Given the description of an element on the screen output the (x, y) to click on. 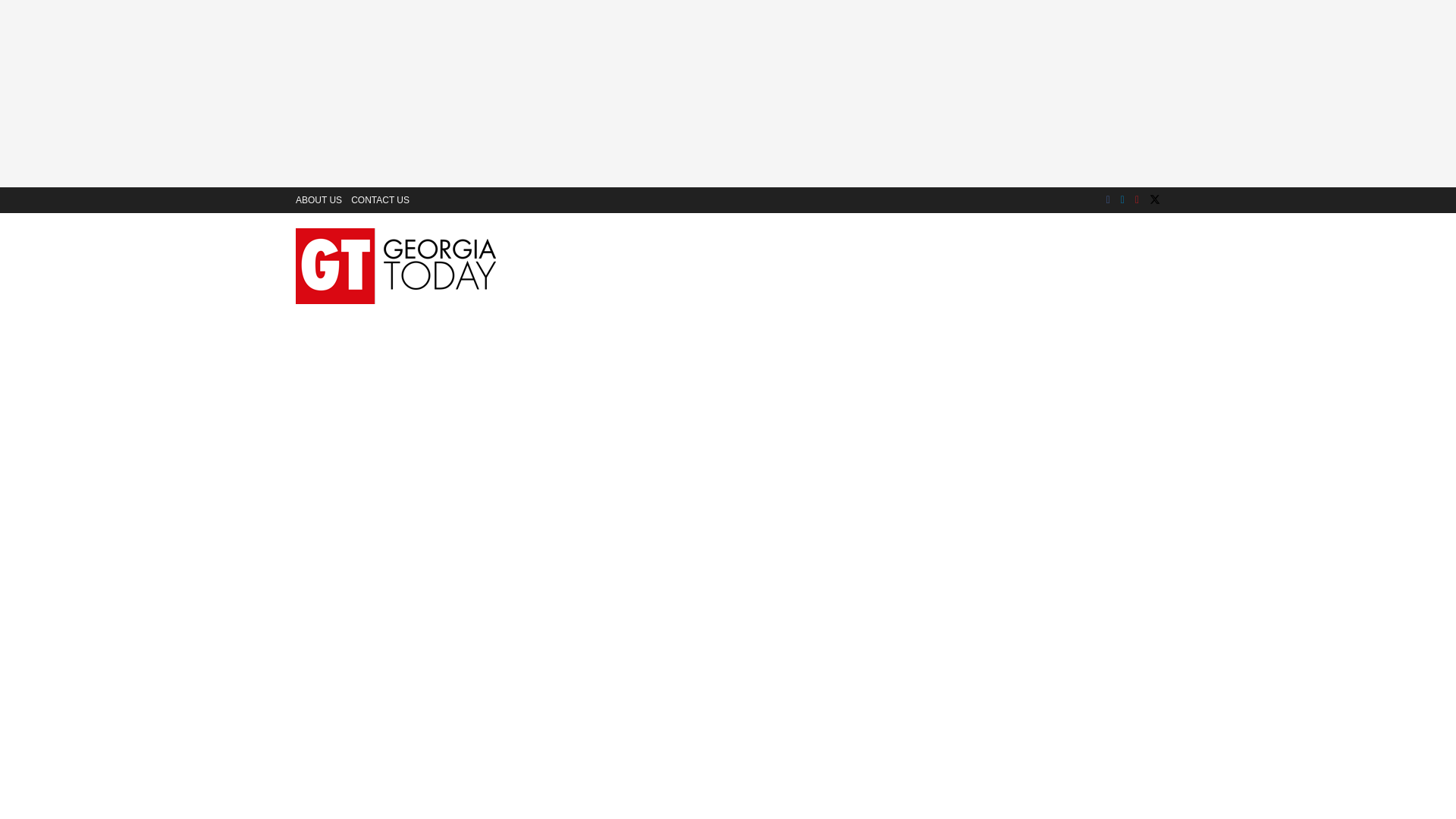
CONTACT US (379, 199)
ABOUT US (318, 199)
